Given the description of an element on the screen output the (x, y) to click on. 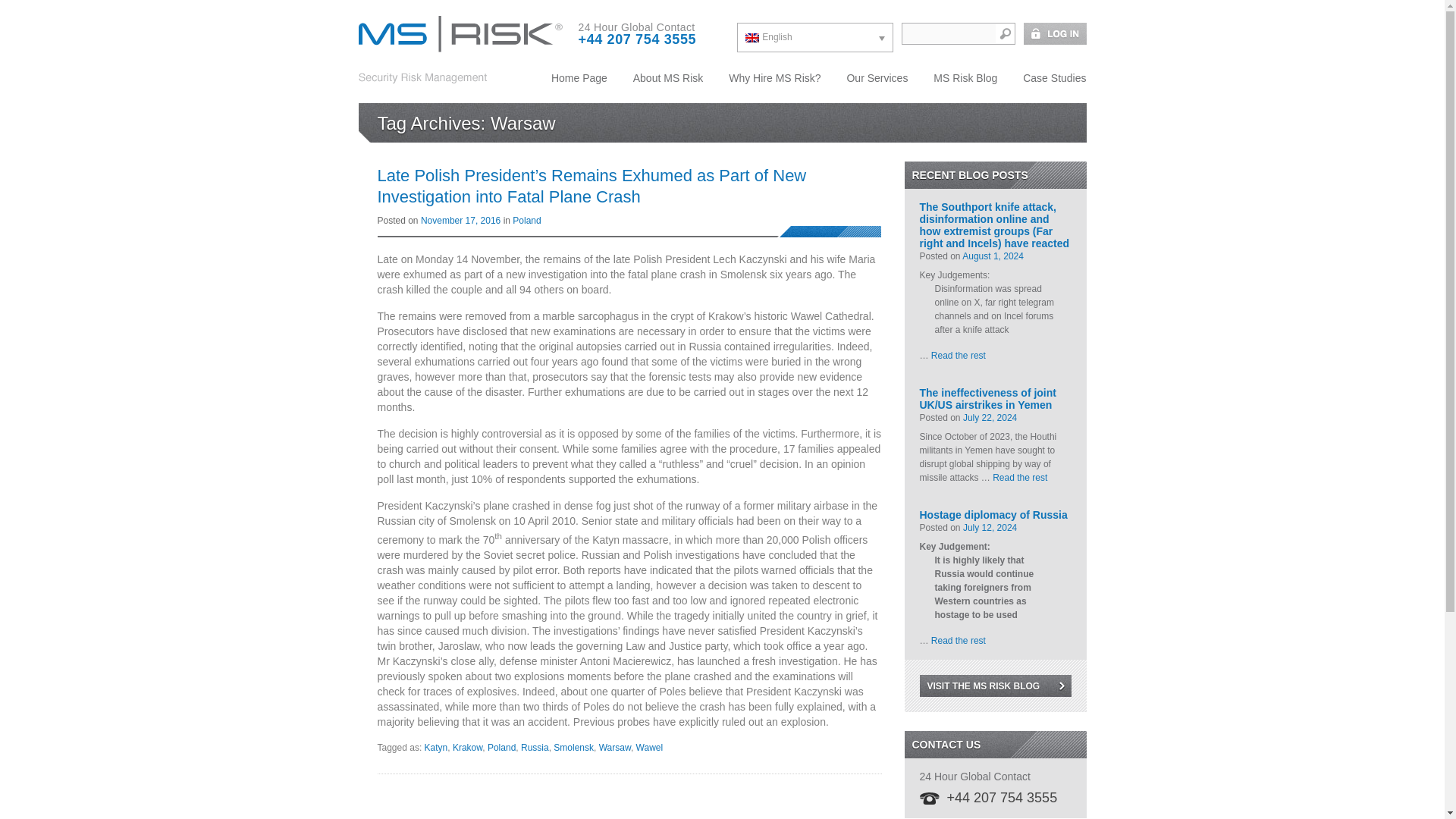
Case Studies (1048, 77)
Wawel (649, 747)
VISIT THE MS RISK BLOG (994, 685)
Home Page (579, 77)
Why Hire MS Risk? (774, 77)
Warsaw (614, 747)
Poland (526, 220)
Read the rest (958, 640)
November 17, 2016 (460, 220)
July 12, 2024 (989, 527)
MS Risk Blog (965, 77)
Search (1003, 33)
11:34 pm (989, 417)
Krakow (466, 747)
Hostage diplomacy of Russia (994, 508)
